Given the description of an element on the screen output the (x, y) to click on. 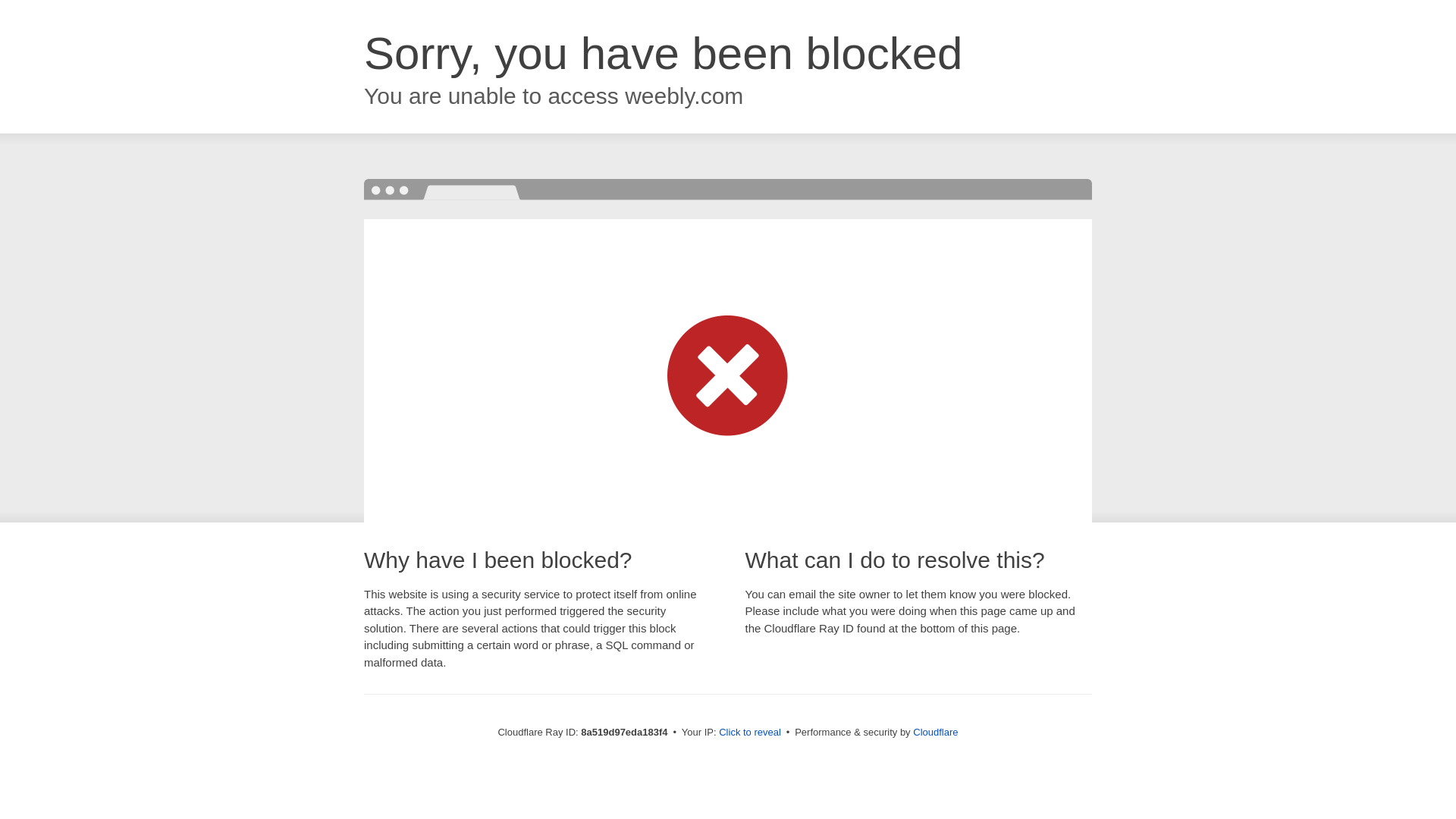
Cloudflare (935, 731)
Click to reveal (749, 732)
